Given the description of an element on the screen output the (x, y) to click on. 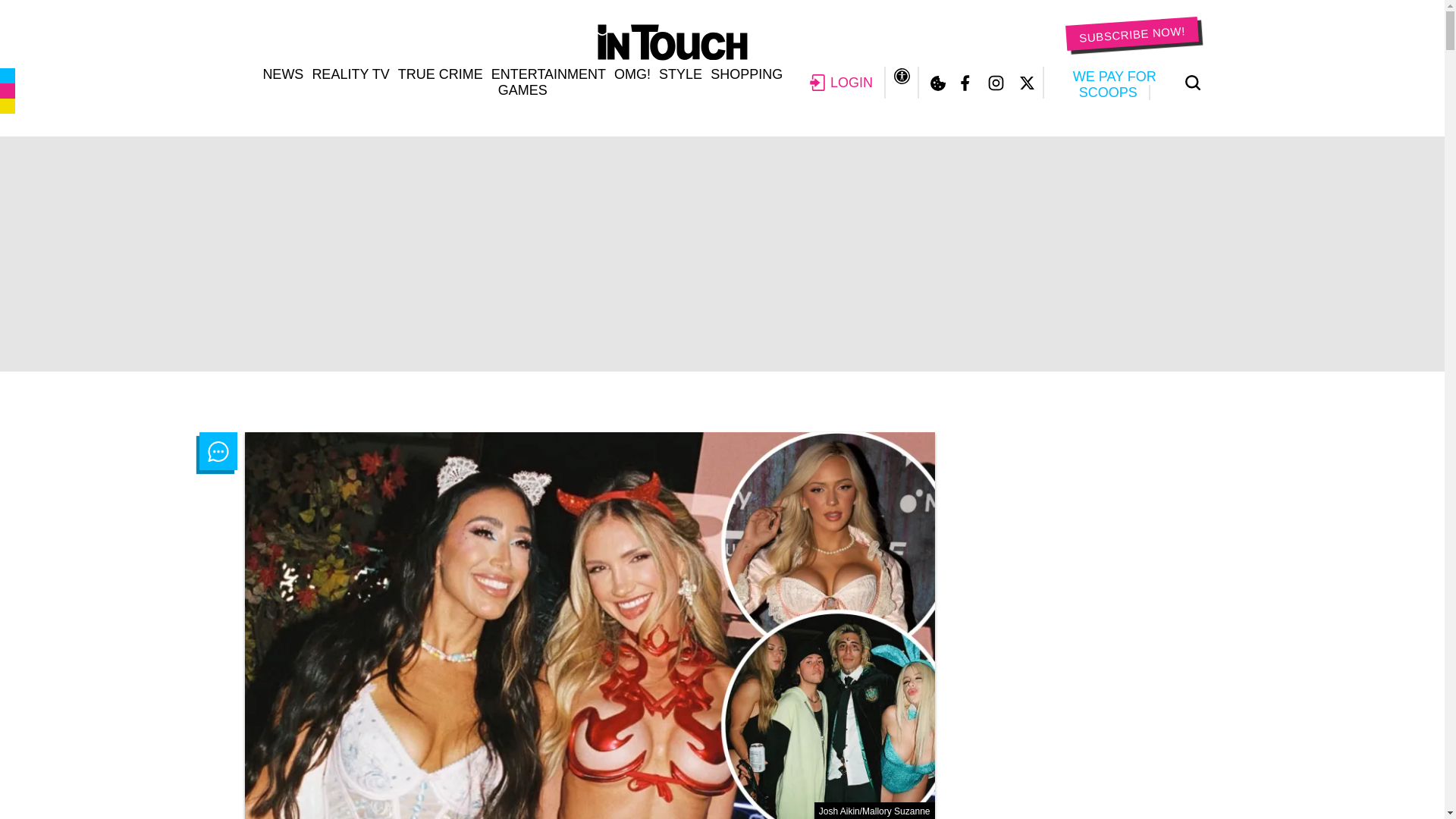
TRUE CRIME (440, 73)
NEWS (282, 73)
REALITY TV (349, 73)
